Given the description of an element on the screen output the (x, y) to click on. 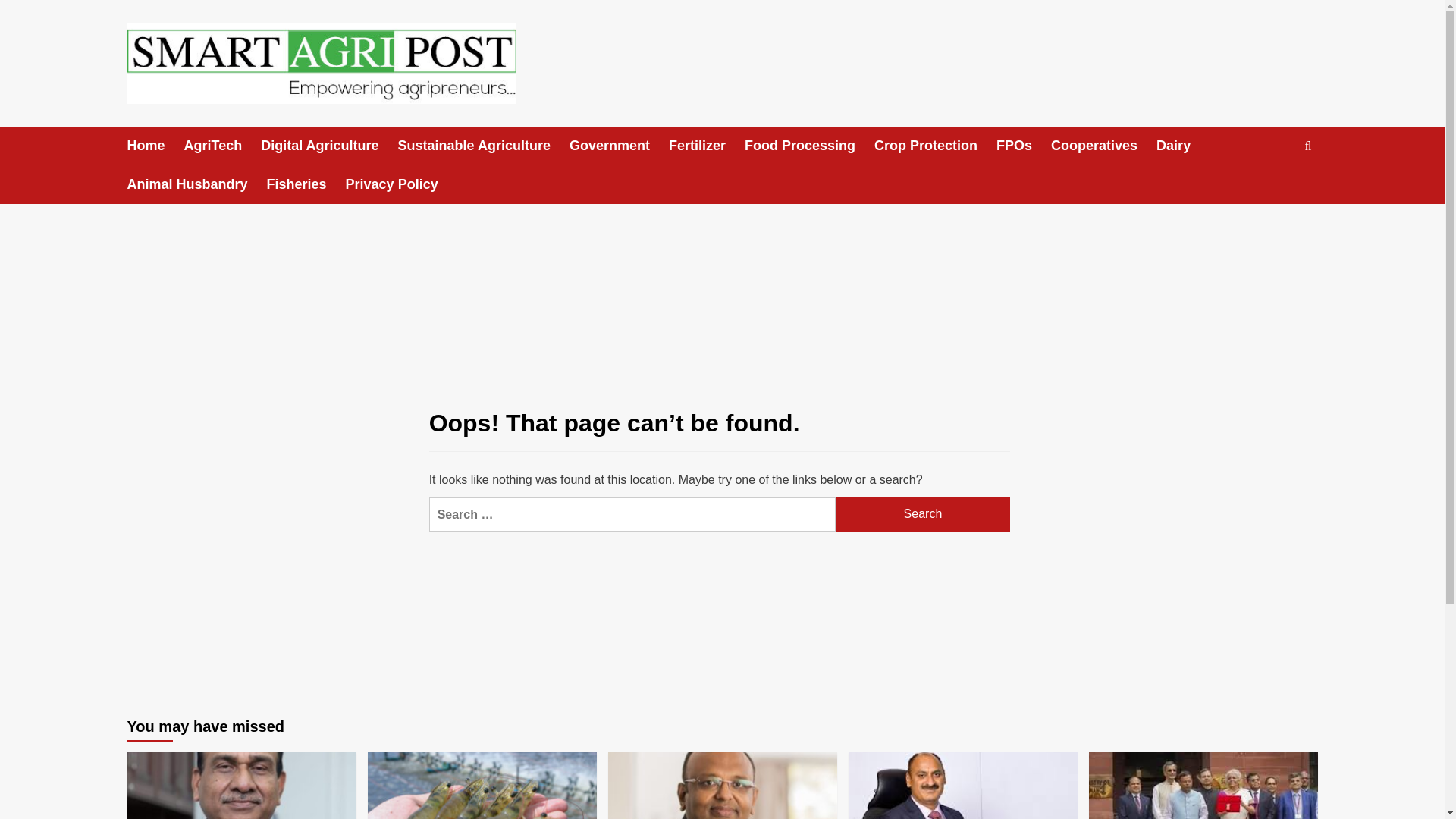
Search (922, 514)
Animal Husbandry (197, 184)
Food Processing (809, 145)
Search (1272, 192)
Crop Protection (935, 145)
Search (922, 514)
Fisheries (306, 184)
Privacy Policy (401, 184)
Home (156, 145)
Digital Agriculture (328, 145)
